Given the description of an element on the screen output the (x, y) to click on. 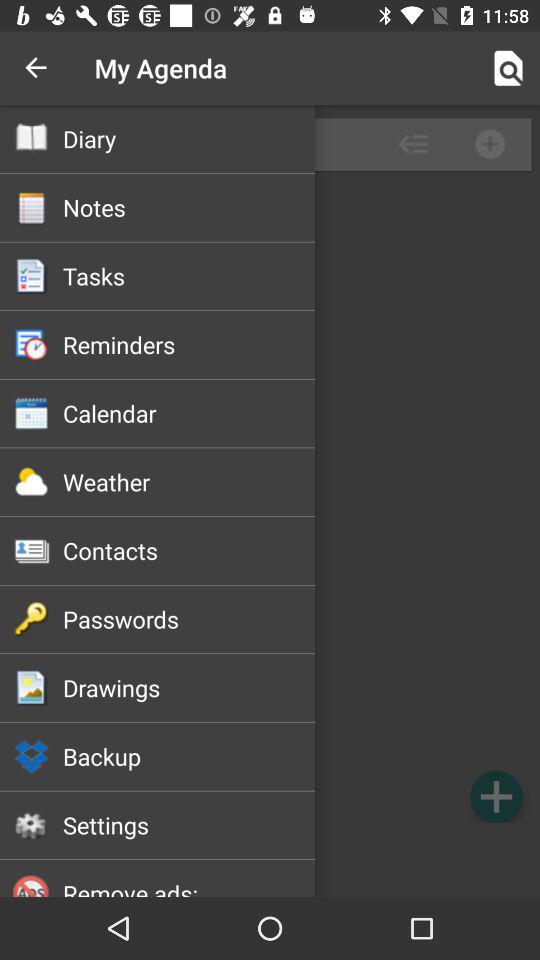
press the icon above the settings item (188, 756)
